Given the description of an element on the screen output the (x, y) to click on. 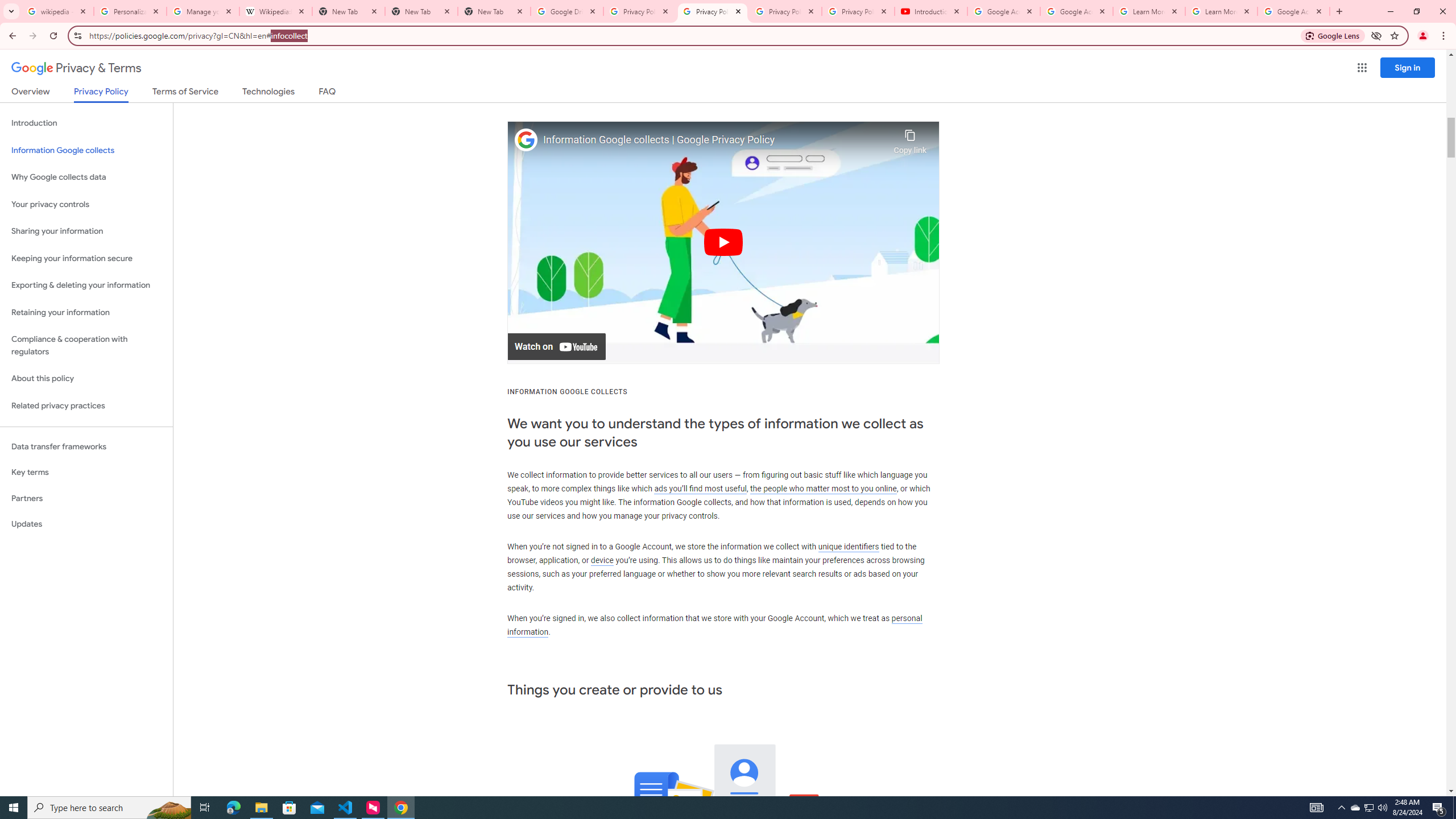
Sharing your information (86, 230)
Keeping your information secure (86, 258)
Photo image of Google (526, 139)
Introduction (86, 122)
Exporting & deleting your information (86, 284)
Google Account Help (1076, 11)
Retaining your information (86, 312)
device (601, 560)
Information Google collects | Google Privacy Policy (715, 140)
Compliance & cooperation with regulators (86, 345)
Personalization & Google Search results - Google Search Help (129, 11)
